Given the description of an element on the screen output the (x, y) to click on. 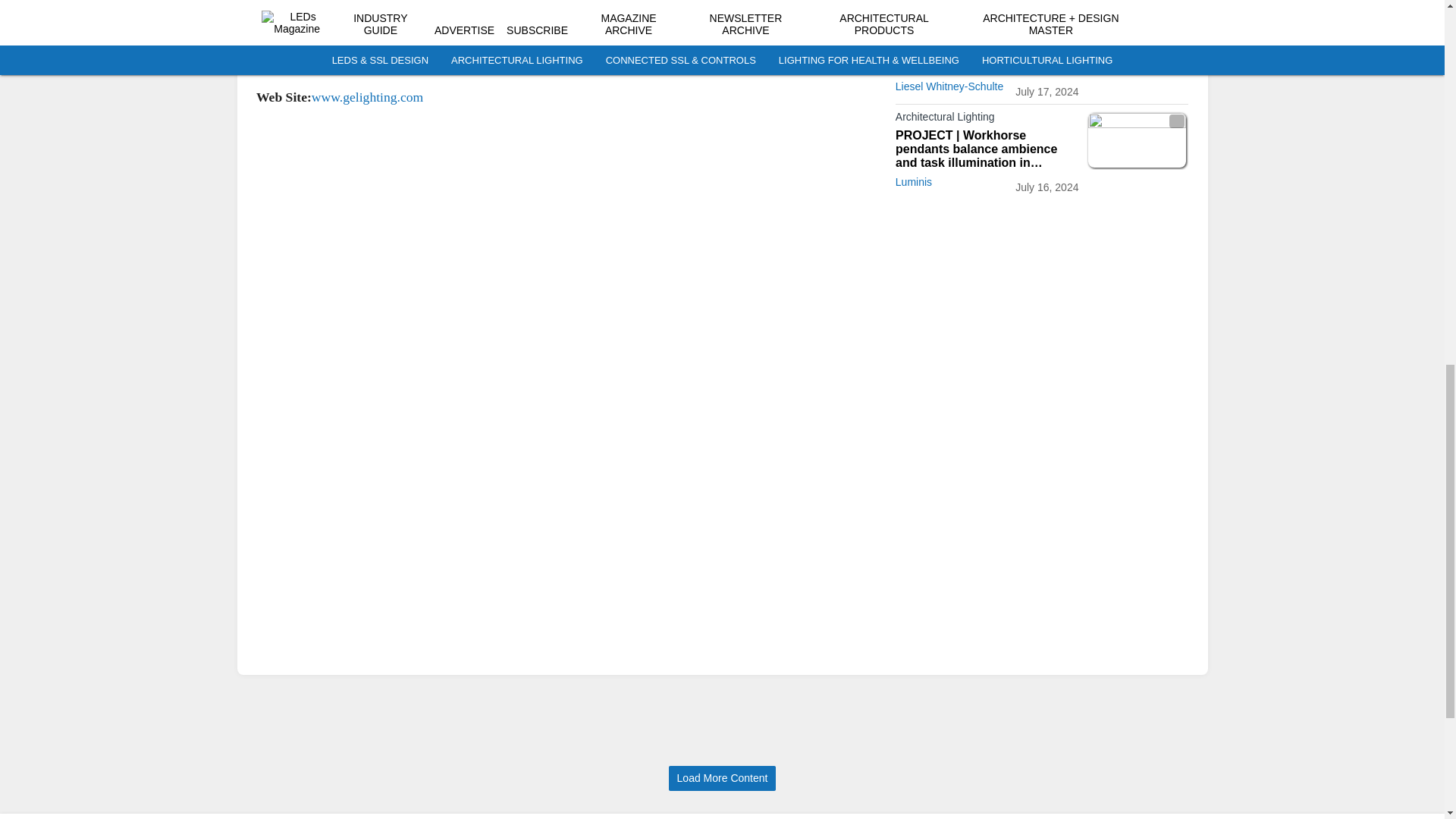
Liesel Whitney-Schulte (949, 86)
www.gelighting.com (366, 96)
